Given the description of an element on the screen output the (x, y) to click on. 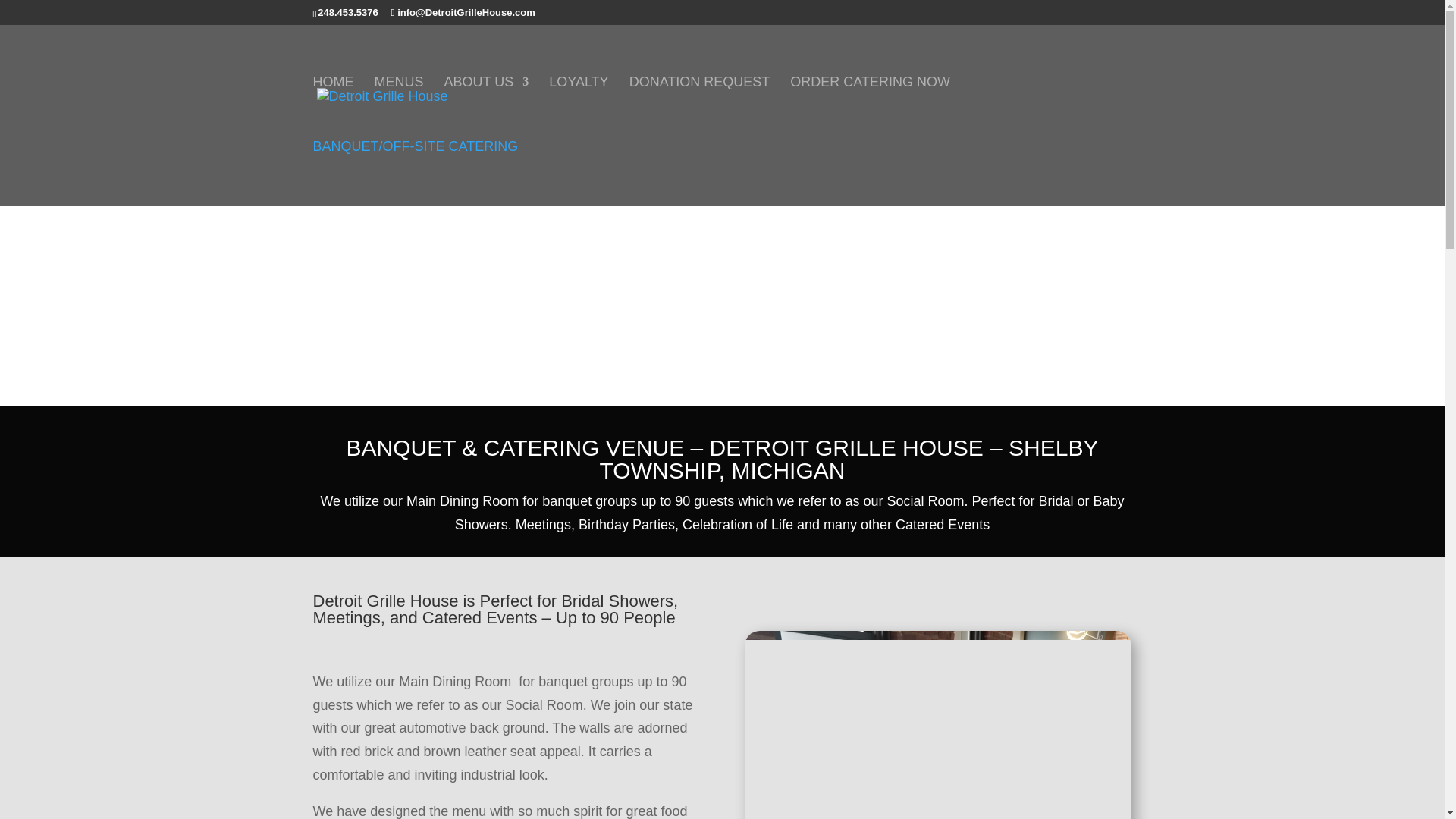
ABOUT US (486, 108)
MENUS (398, 108)
HOME (333, 108)
DONATION REQUEST (699, 108)
ORDER CATERING NOW (870, 108)
LOYALTY (578, 108)
